Given the description of an element on the screen output the (x, y) to click on. 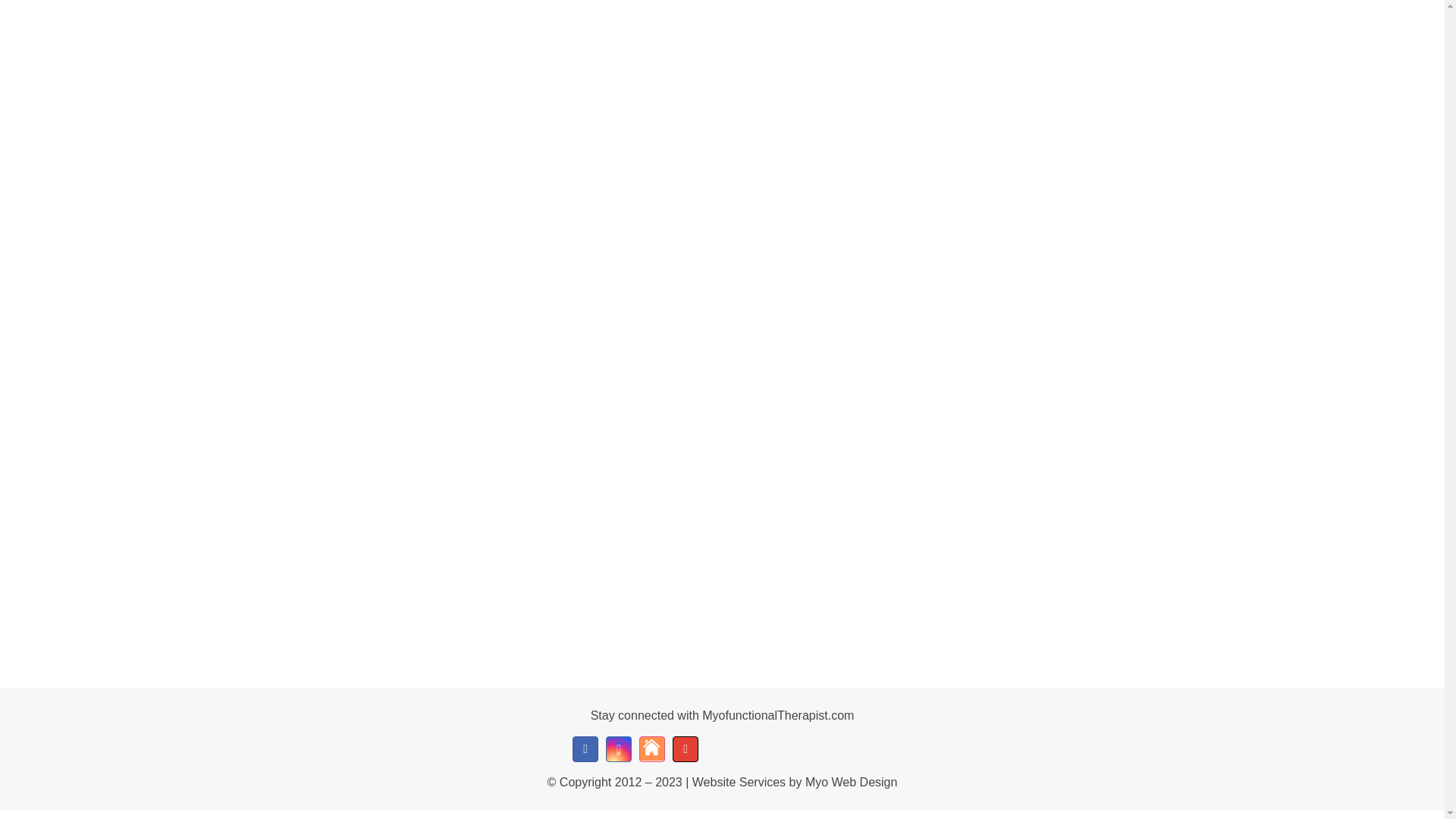
Instagram (618, 749)
Email (685, 749)
Facebook (585, 749)
Dribbble (652, 749)
